Given the description of an element on the screen output the (x, y) to click on. 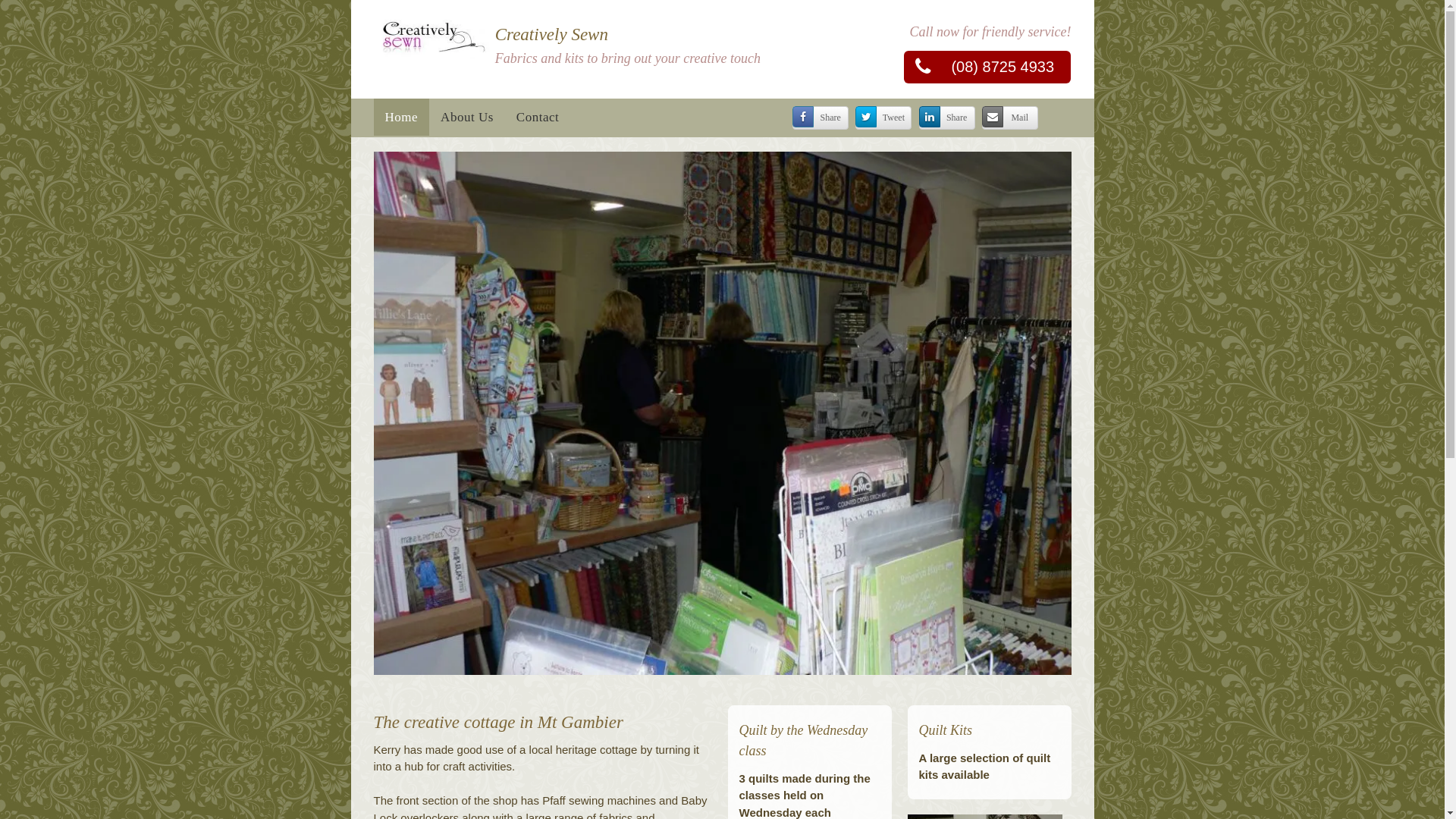
Contact Element type: text (537, 117)
About Us Element type: text (467, 117)
Logo Element type: hover (431, 37)
(08) 8725 4933 Element type: text (986, 66)
Home Element type: text (401, 117)
